Given the description of an element on the screen output the (x, y) to click on. 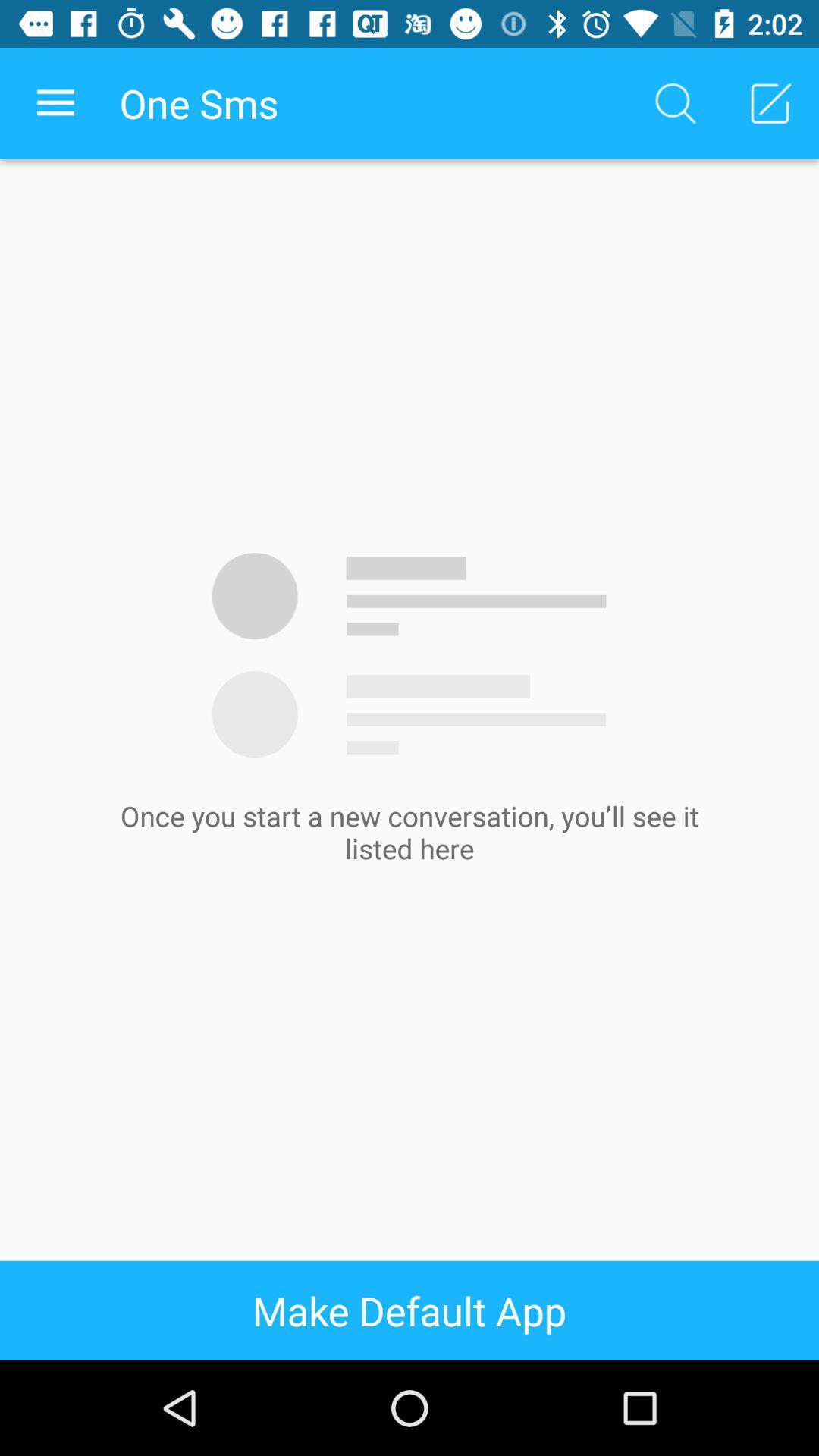
jump to make default app (409, 1310)
